Given the description of an element on the screen output the (x, y) to click on. 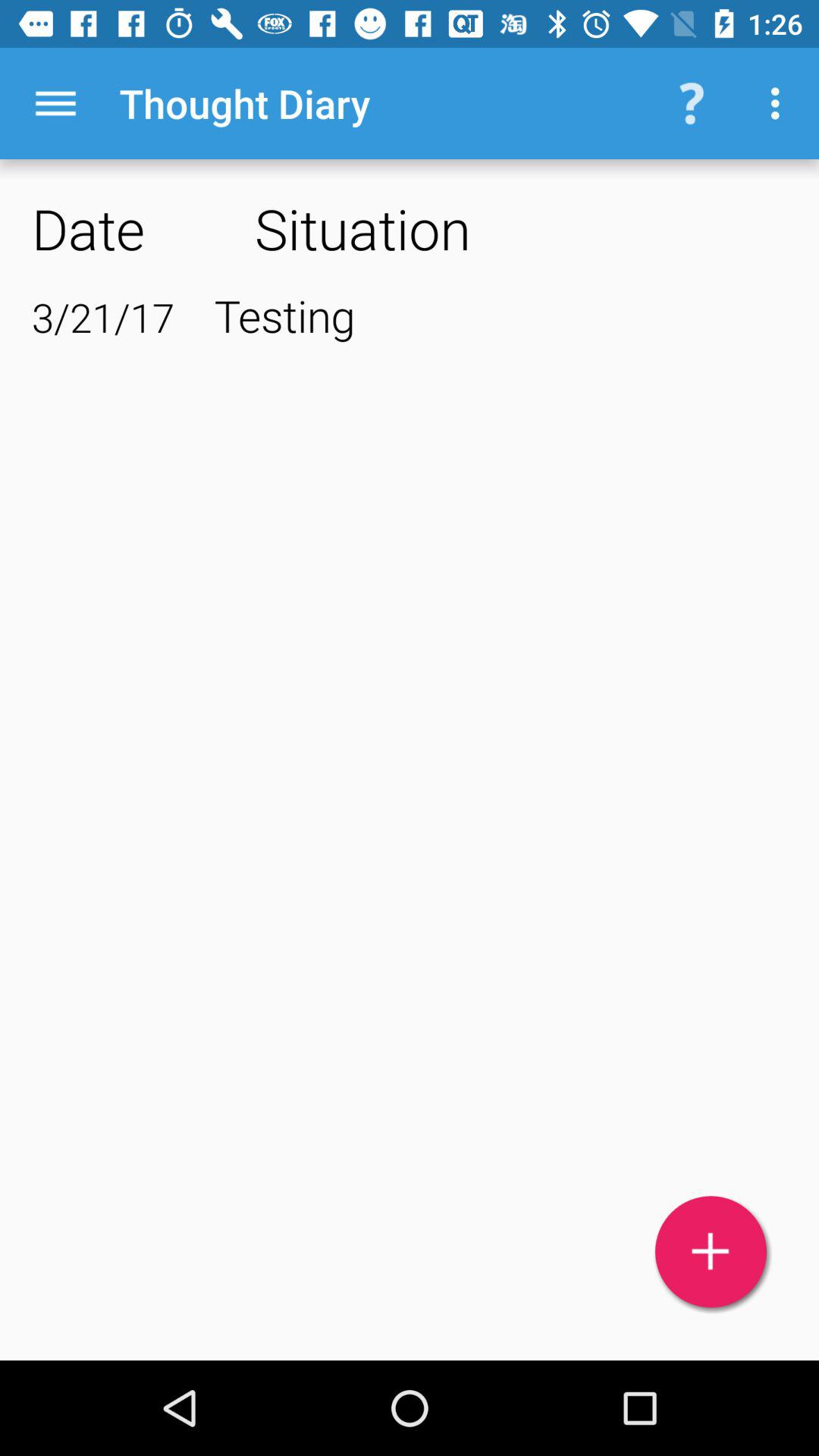
select item to the right of the 3/21/17 item (500, 315)
